Given the description of an element on the screen output the (x, y) to click on. 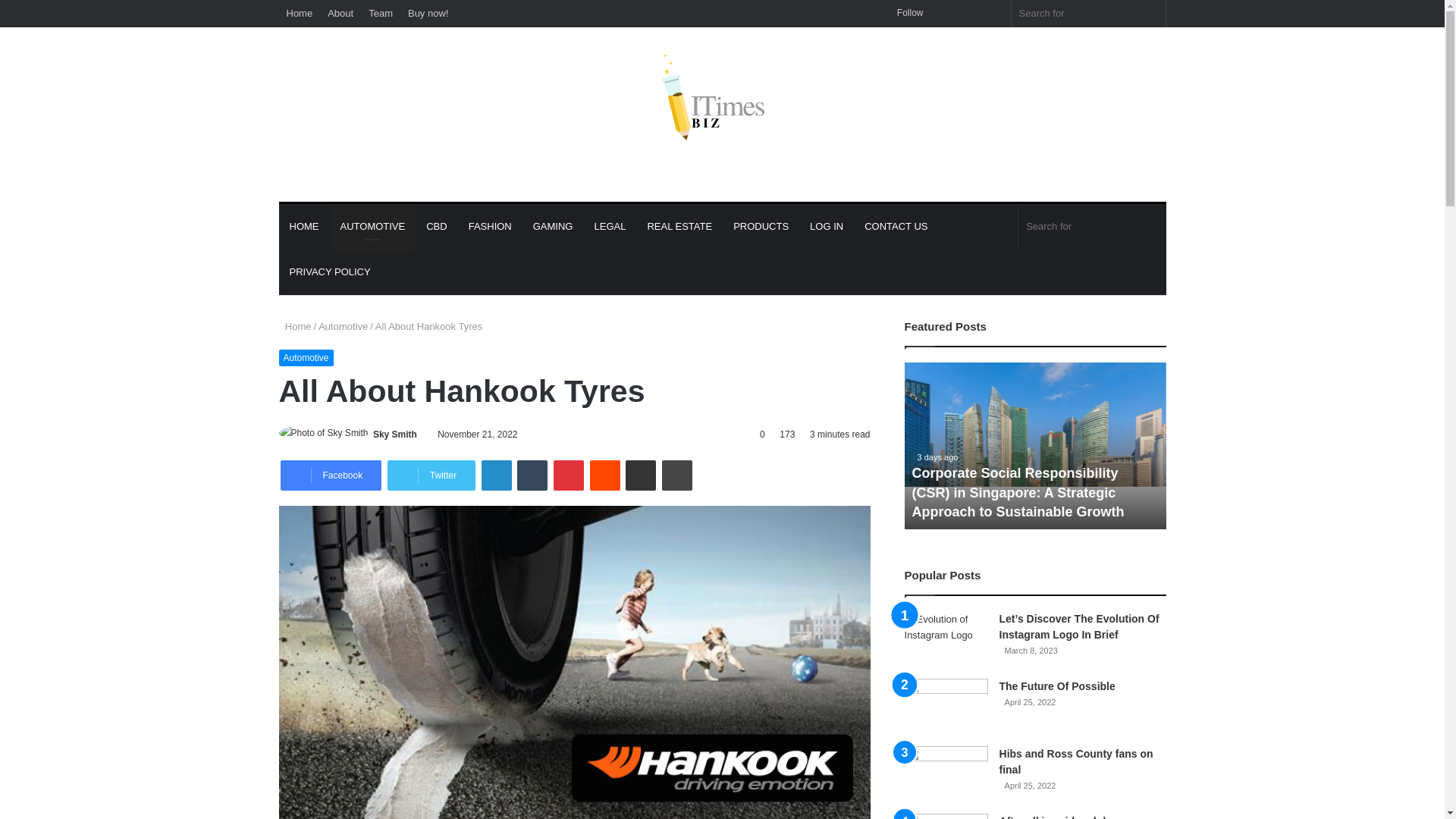
ITimes Biz (721, 114)
Automotive (343, 326)
Facebook (331, 475)
REAL ESTATE (679, 226)
Sky Smith (394, 434)
Twitter (431, 475)
Search for (1088, 13)
Search for (1091, 226)
Buy now! (427, 13)
Automotive (306, 357)
